Given the description of an element on the screen output the (x, y) to click on. 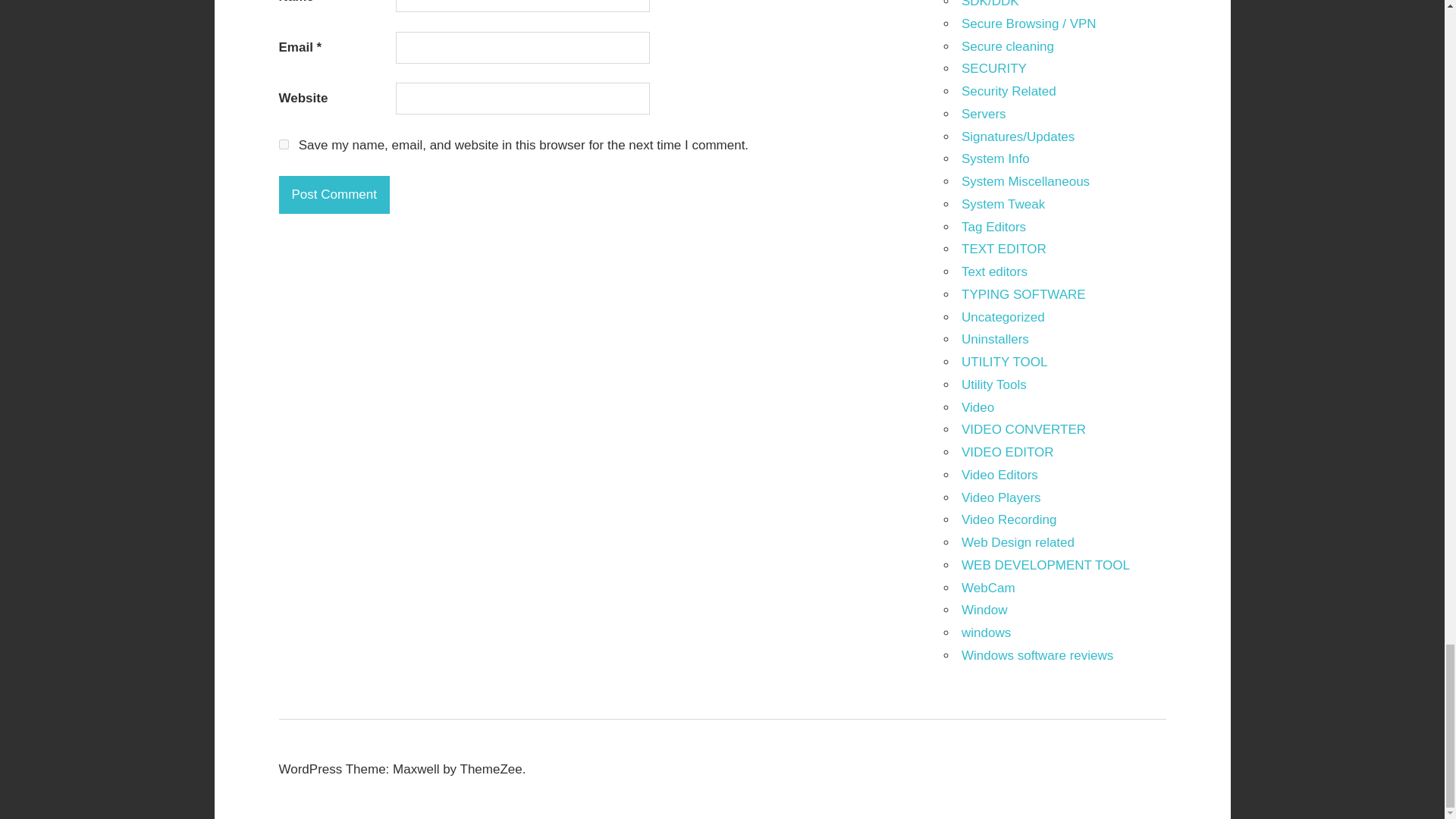
yes (283, 144)
Post Comment (334, 194)
